Given the description of an element on the screen output the (x, y) to click on. 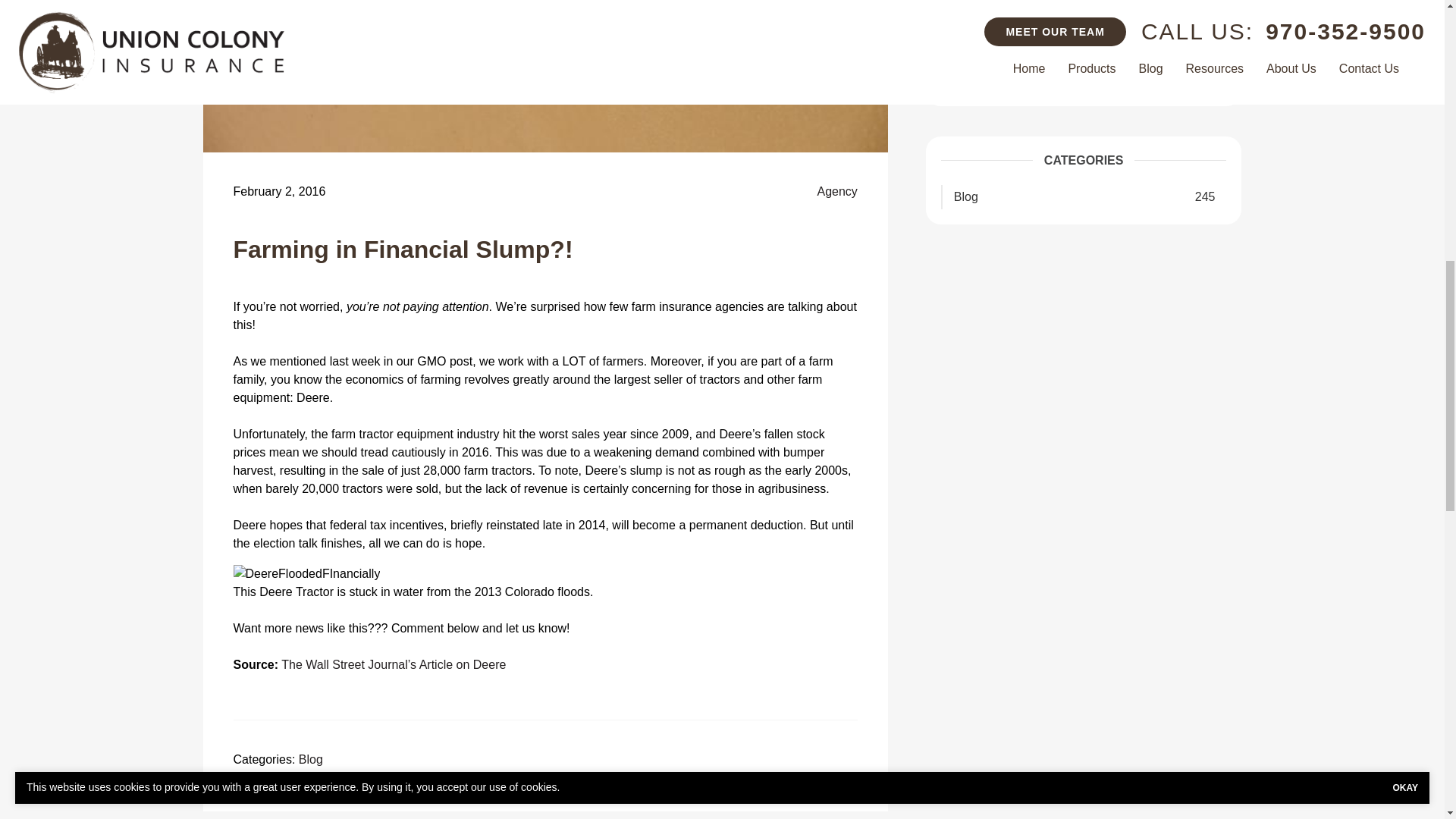
Agency (836, 191)
